Given the description of an element on the screen output the (x, y) to click on. 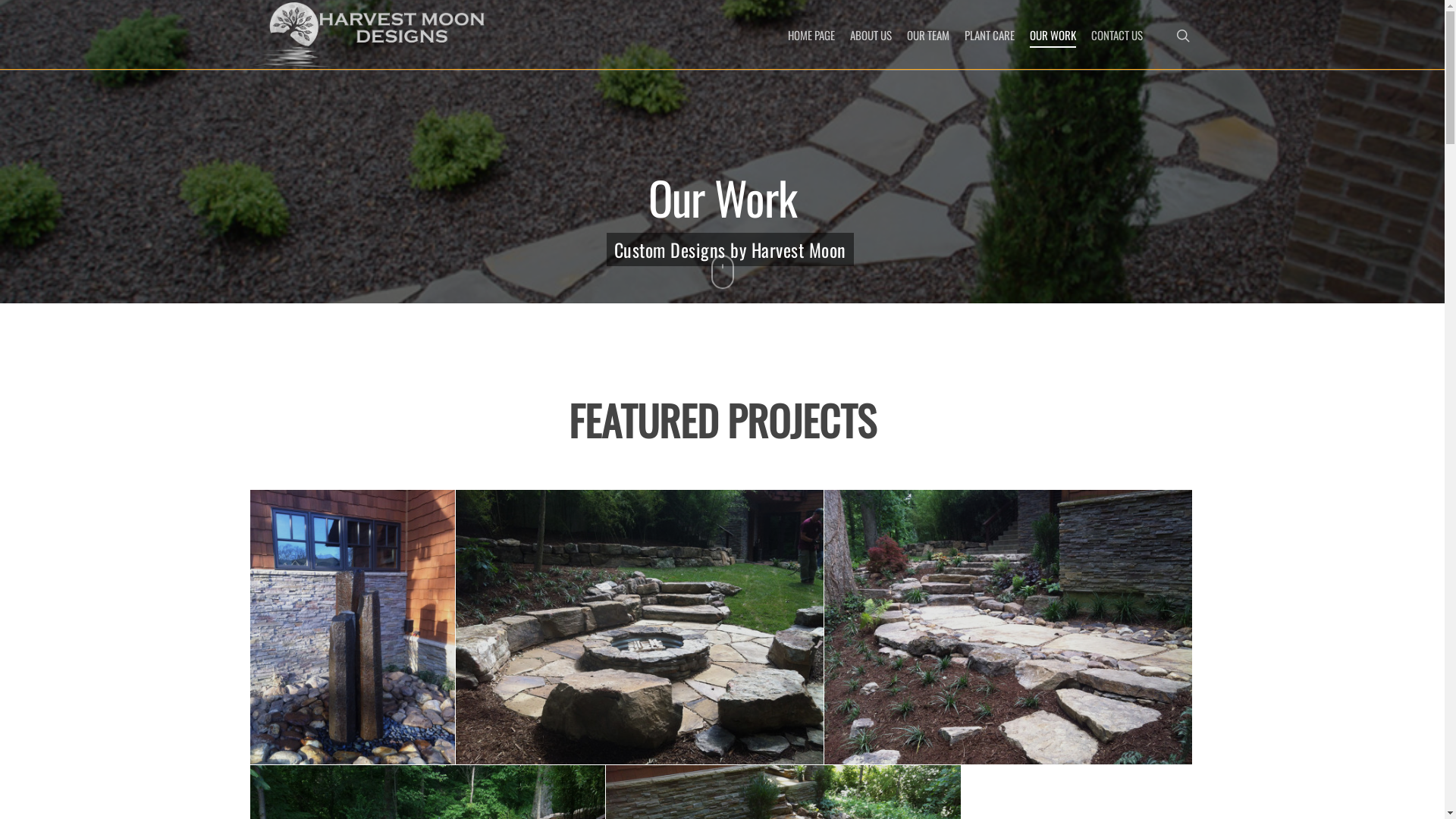
OUR TEAM Element type: text (927, 35)
HOME PAGE Element type: text (810, 35)
PLANT CARE Element type: text (989, 35)
CONTACT US Element type: text (1116, 35)
OUR WORK Element type: text (1052, 35)
ABOUT US Element type: text (870, 35)
